Given the description of an element on the screen output the (x, y) to click on. 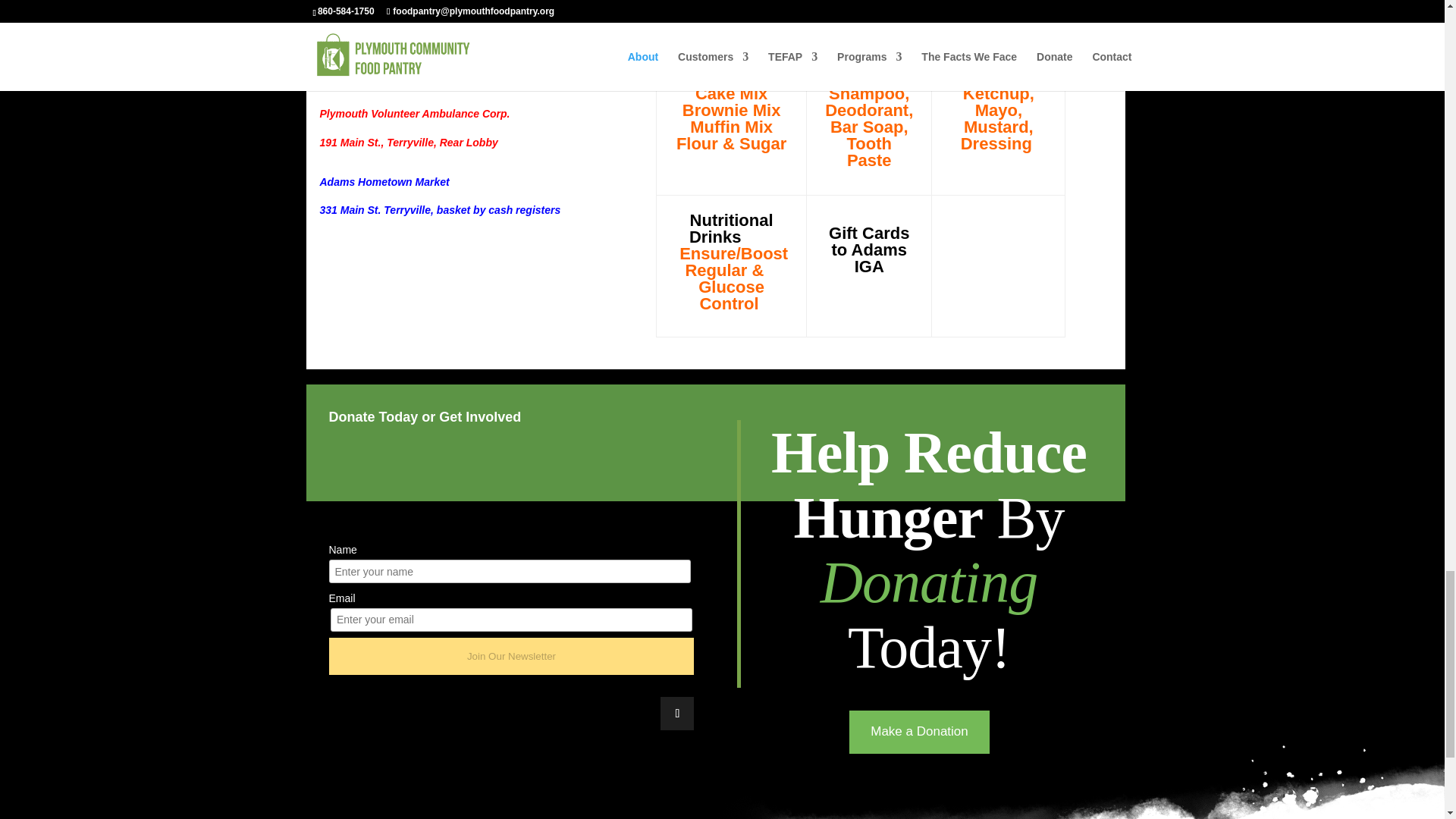
Join Our Newsletter (511, 656)
Follow on Facebook (677, 713)
Join Our Newsletter (511, 656)
Make a Donation (919, 731)
